Given the description of an element on the screen output the (x, y) to click on. 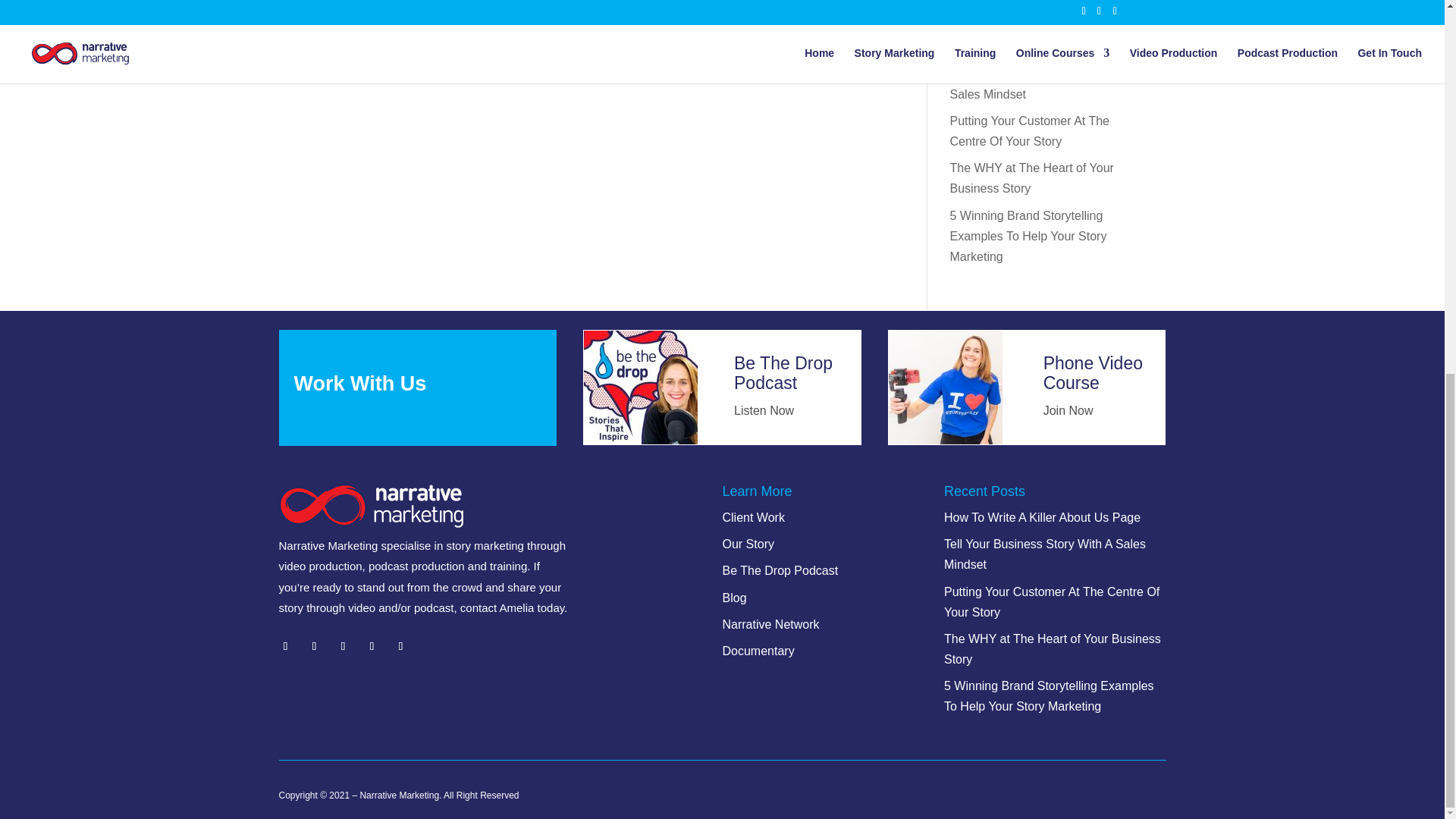
Follow on Twitter (314, 645)
How To Write A Killer About Us Page (1031, 36)
Follow on Youtube (401, 645)
Follow on Facebook (286, 645)
Follow on Instagram (372, 645)
Follow on LinkedIn (343, 645)
footer-logo (371, 505)
